Given the description of an element on the screen output the (x, y) to click on. 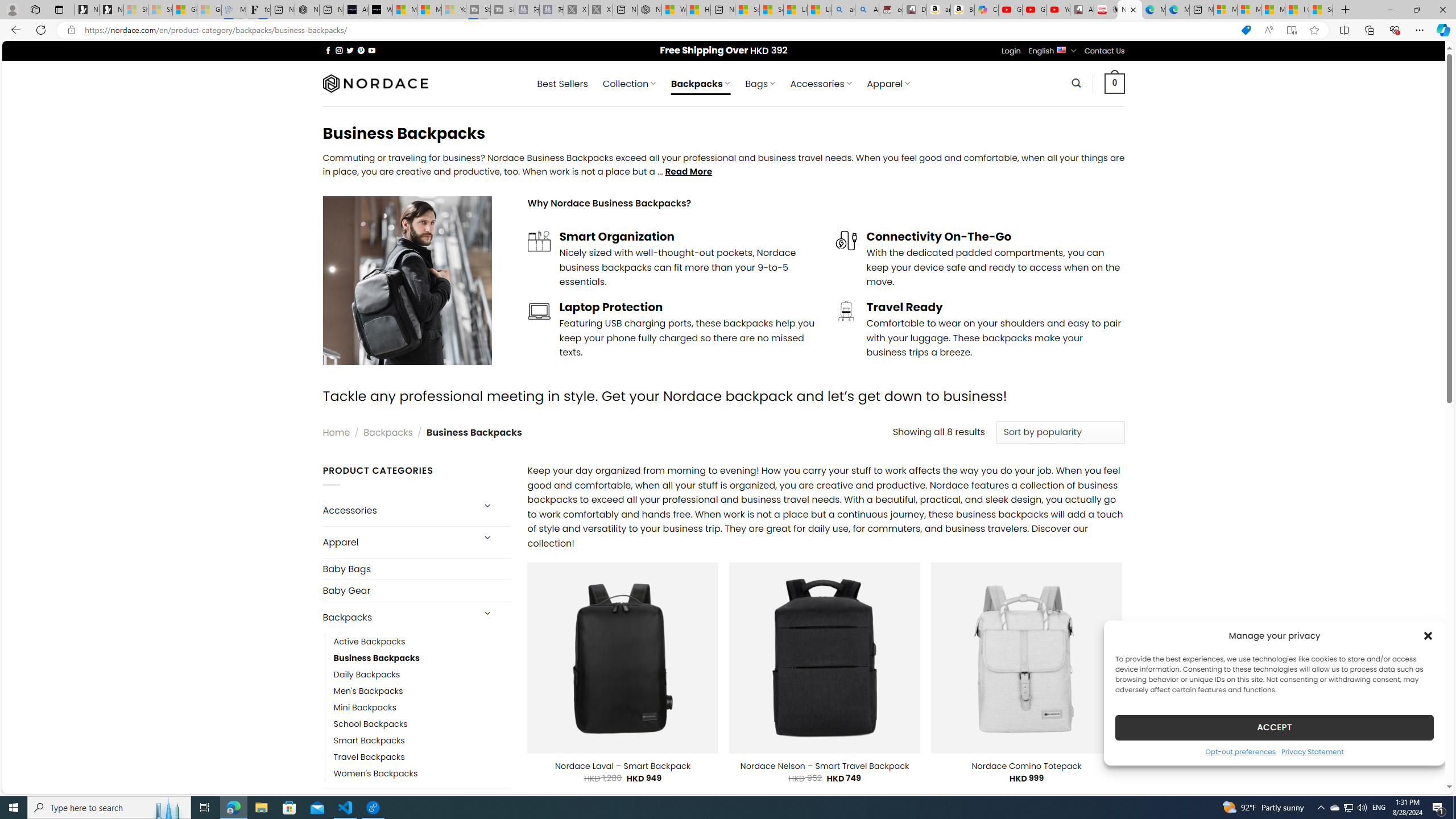
Baby Bags (416, 568)
I Gained 20 Pounds of Muscle in 30 Days! | Watch (1296, 9)
Baby Gear (416, 590)
